Given the description of an element on the screen output the (x, y) to click on. 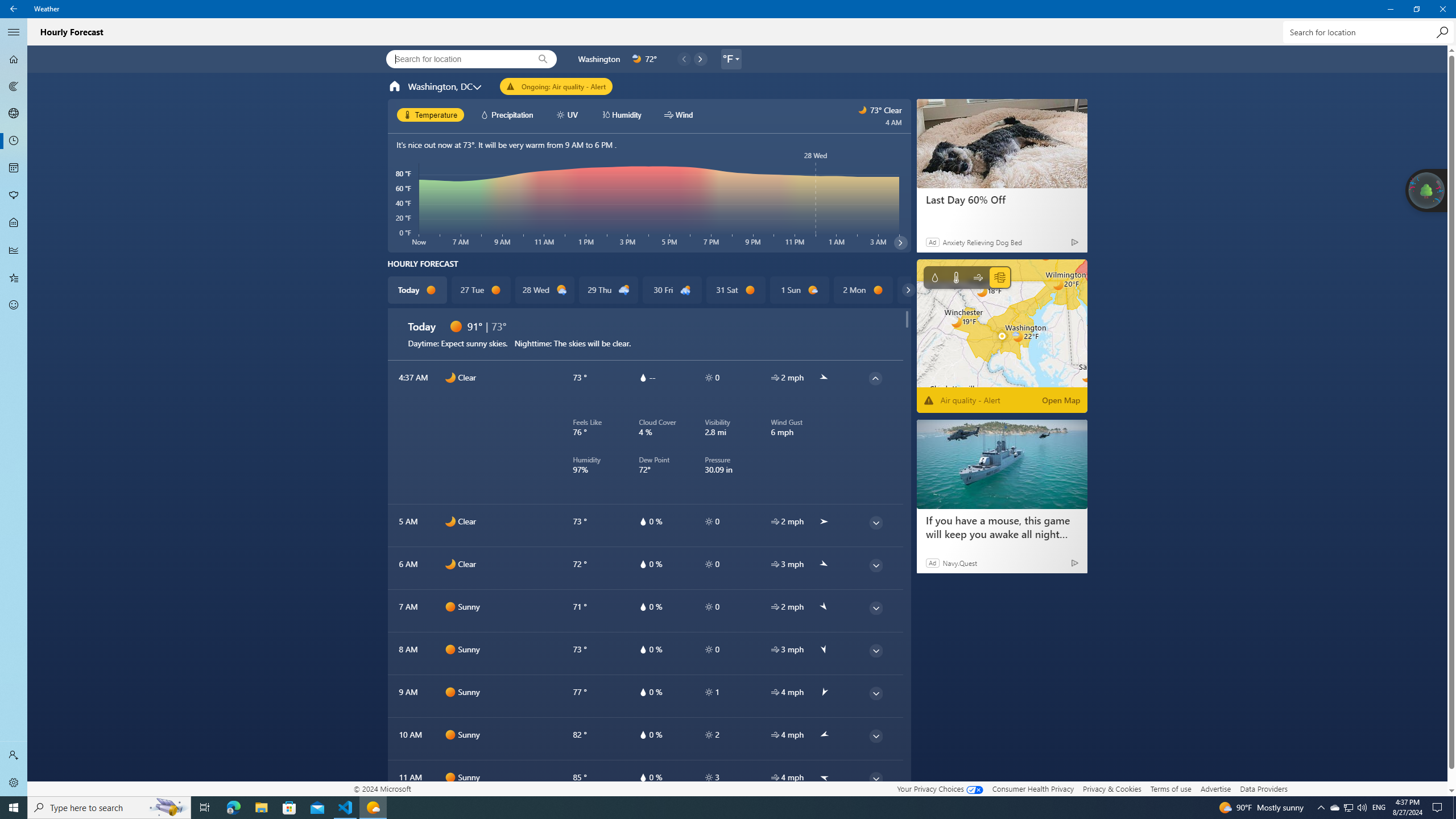
Microsoft Edge (233, 807)
Type here to search (108, 807)
Running applications (706, 807)
3D Maps - Not Selected (13, 113)
Forecast - Not Selected (13, 58)
